Given the description of an element on the screen output the (x, y) to click on. 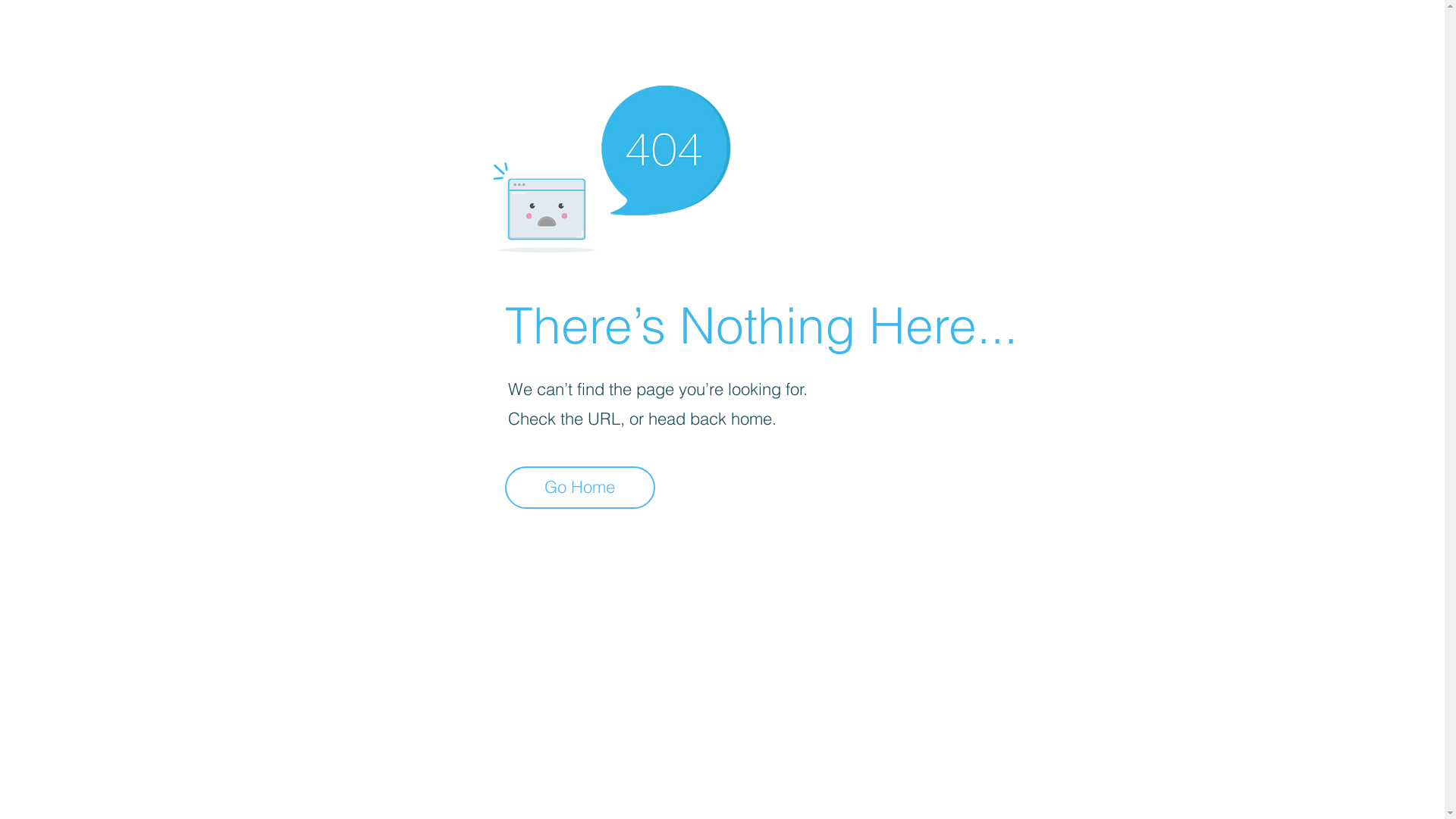
404-icon_2.png Element type: hover (610, 164)
Go Home Element type: text (580, 487)
